Given the description of an element on the screen output the (x, y) to click on. 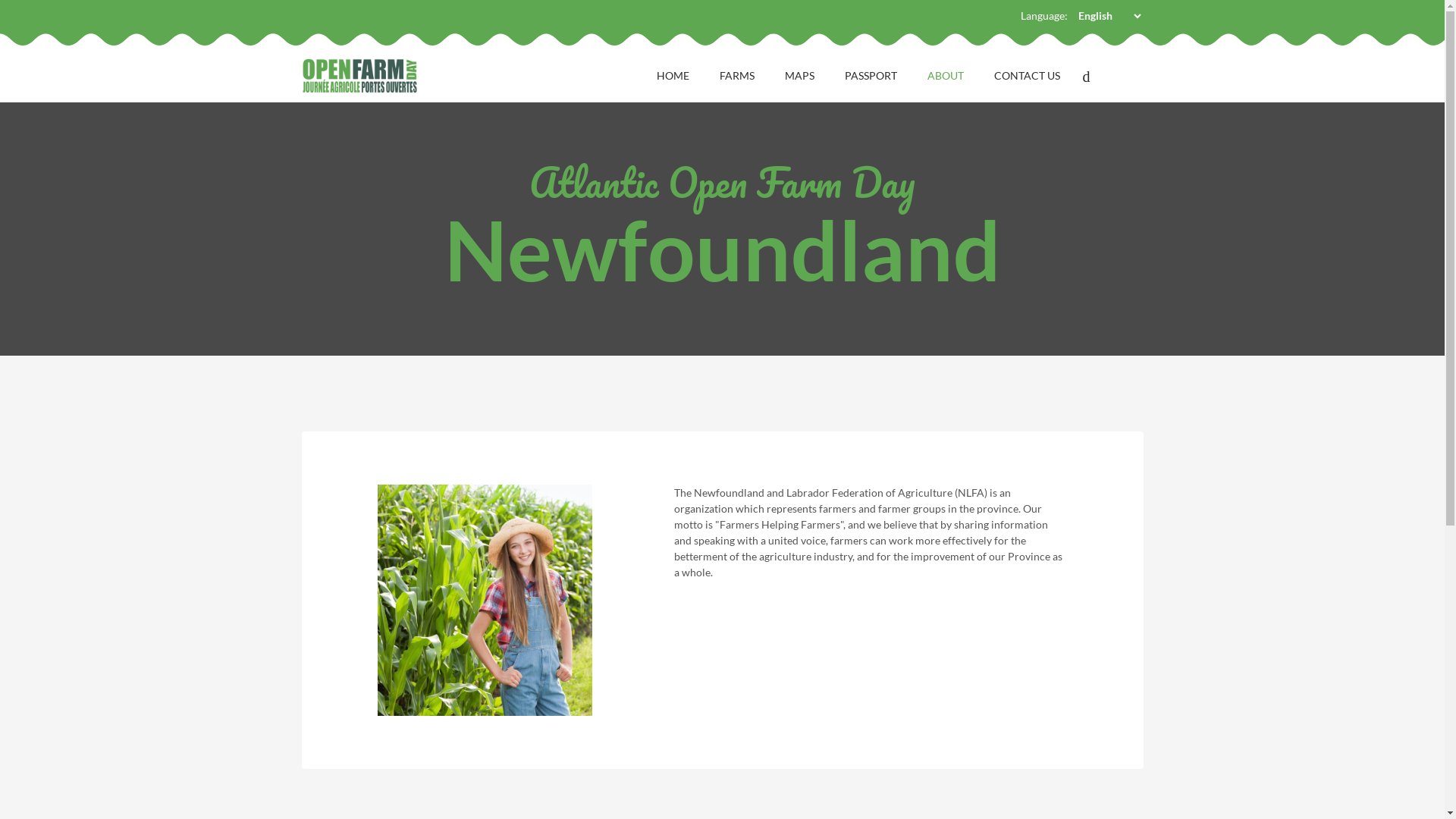
MAPS Element type: text (798, 75)
FARMS Element type: text (735, 75)
PASSPORT Element type: text (870, 75)
HOME Element type: text (672, 75)
CONTACT US Element type: text (1026, 75)
ABOUT Element type: text (944, 75)
